Given the description of an element on the screen output the (x, y) to click on. 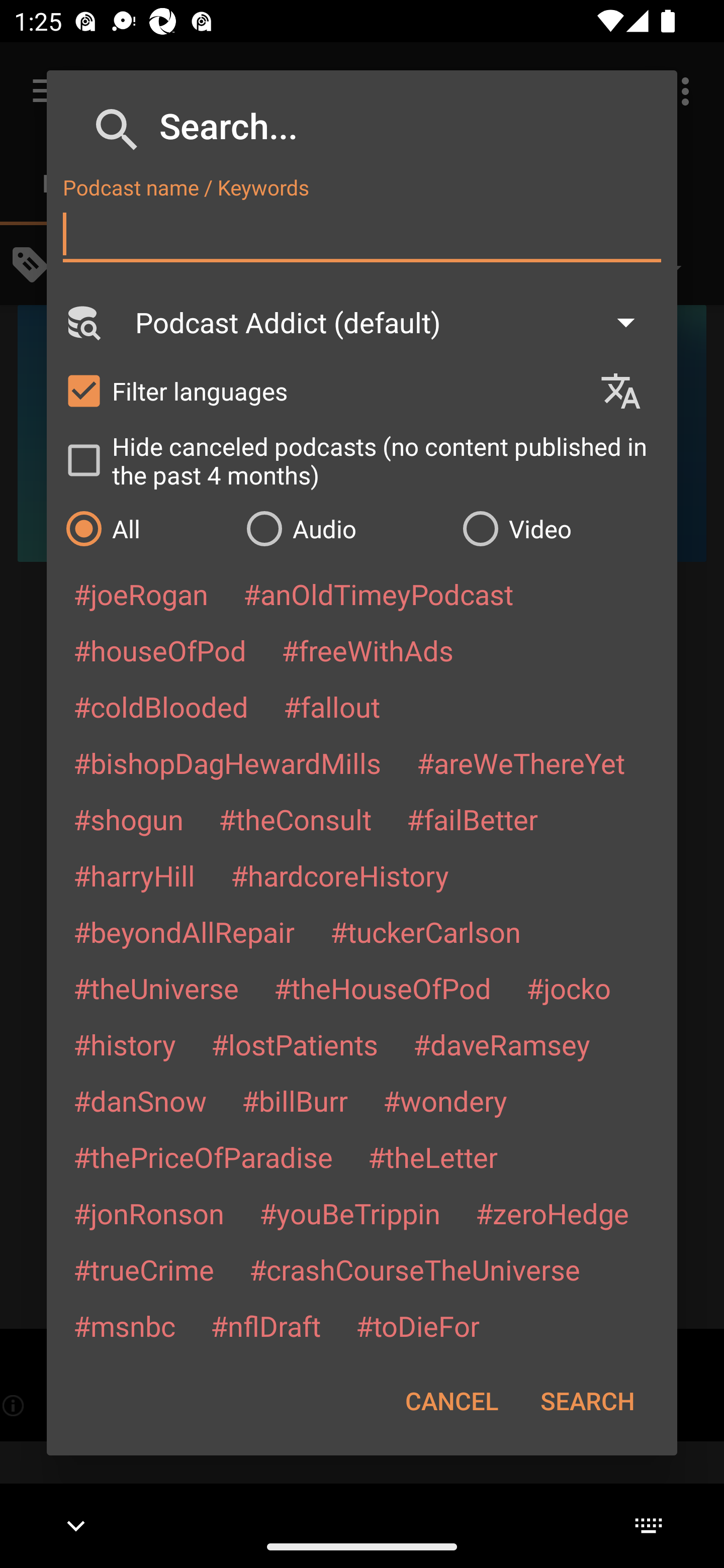
Podcast name / Keywords (361, 234)
Search Engine (82, 322)
Podcast Addict (default) (394, 322)
Languages selection (629, 390)
Filter languages (322, 390)
All (145, 528)
Audio (344, 528)
Video (560, 528)
#joeRogan (140, 594)
#anOldTimeyPodcast (378, 594)
#houseOfPod (159, 650)
#freeWithAds (367, 650)
#coldBlooded (160, 705)
#fallout (331, 705)
#bishopDagHewardMills (227, 762)
#areWeThereYet (521, 762)
#shogun (128, 818)
#theConsult (294, 818)
#failBetter (471, 818)
#harryHill (134, 875)
#hardcoreHistory (339, 875)
#beyondAllRepair (184, 931)
#tuckerCarlson (425, 931)
#theUniverse (155, 987)
#theHouseOfPod (381, 987)
#jocko (568, 987)
#history (124, 1044)
#lostPatients (294, 1044)
#daveRamsey (501, 1044)
#danSnow (139, 1100)
#billBurr (294, 1100)
#wondery (444, 1100)
#thePriceOfParadise (203, 1157)
#theLetter (432, 1157)
#jonRonson (148, 1213)
#youBeTrippin (349, 1213)
#zeroHedge (552, 1213)
#trueCrime (143, 1268)
#crashCourseTheUniverse (414, 1268)
#msnbc (124, 1325)
#nflDraft (265, 1325)
#toDieFor (417, 1325)
CANCEL (451, 1400)
SEARCH (587, 1400)
